Given the description of an element on the screen output the (x, y) to click on. 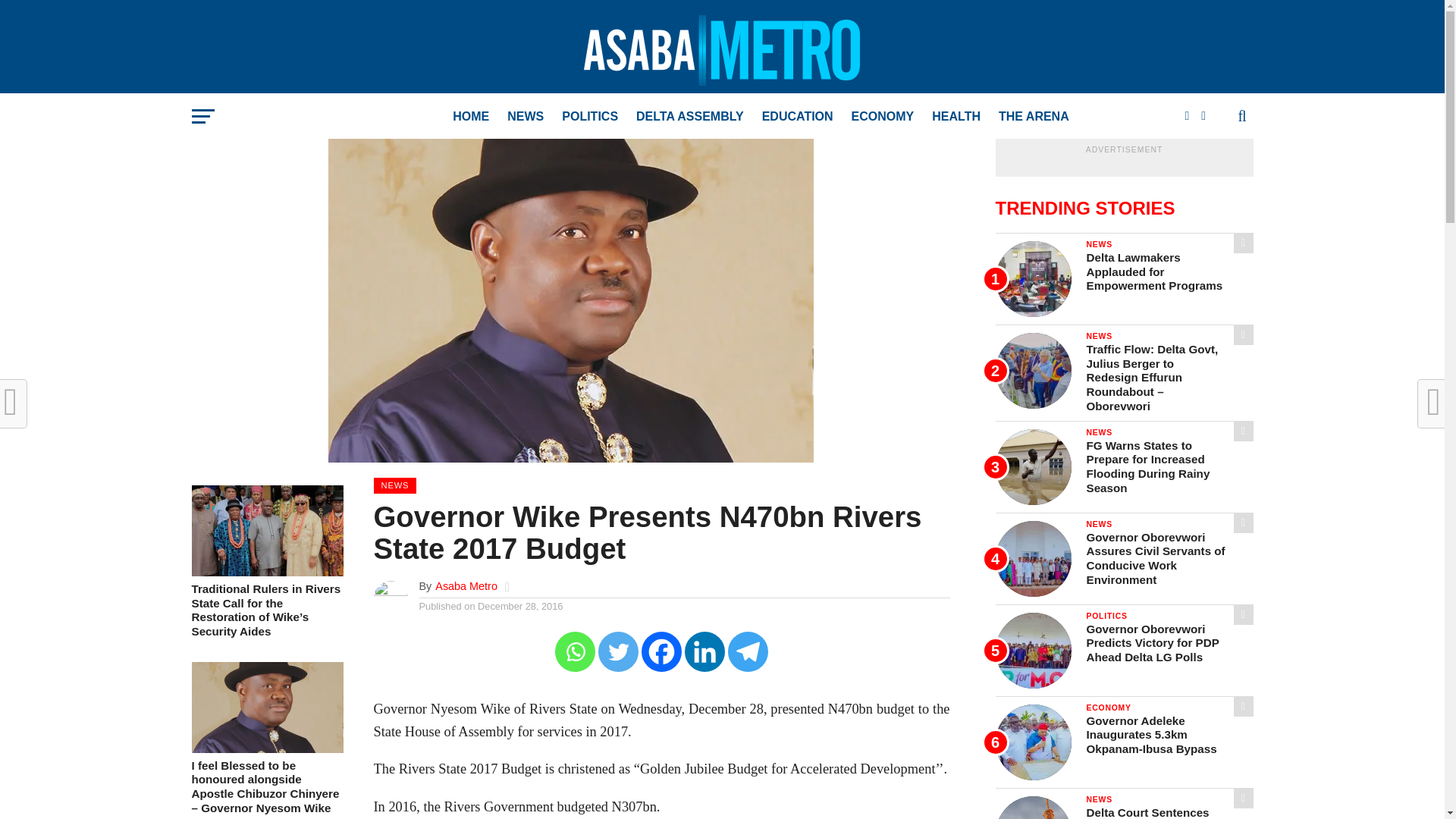
Telegram (748, 651)
Posts by Asaba Metro (466, 585)
EDUCATION (797, 116)
HOME (470, 116)
DELTA ASSEMBLY (689, 116)
HEALTH (956, 116)
THE ARENA (1034, 116)
Twitter (618, 651)
POLITICS (590, 116)
NEWS (525, 116)
Asaba Metro (466, 585)
Linkedin (704, 651)
Whatsapp (574, 651)
ECONOMY (883, 116)
Facebook (661, 651)
